Given the description of an element on the screen output the (x, y) to click on. 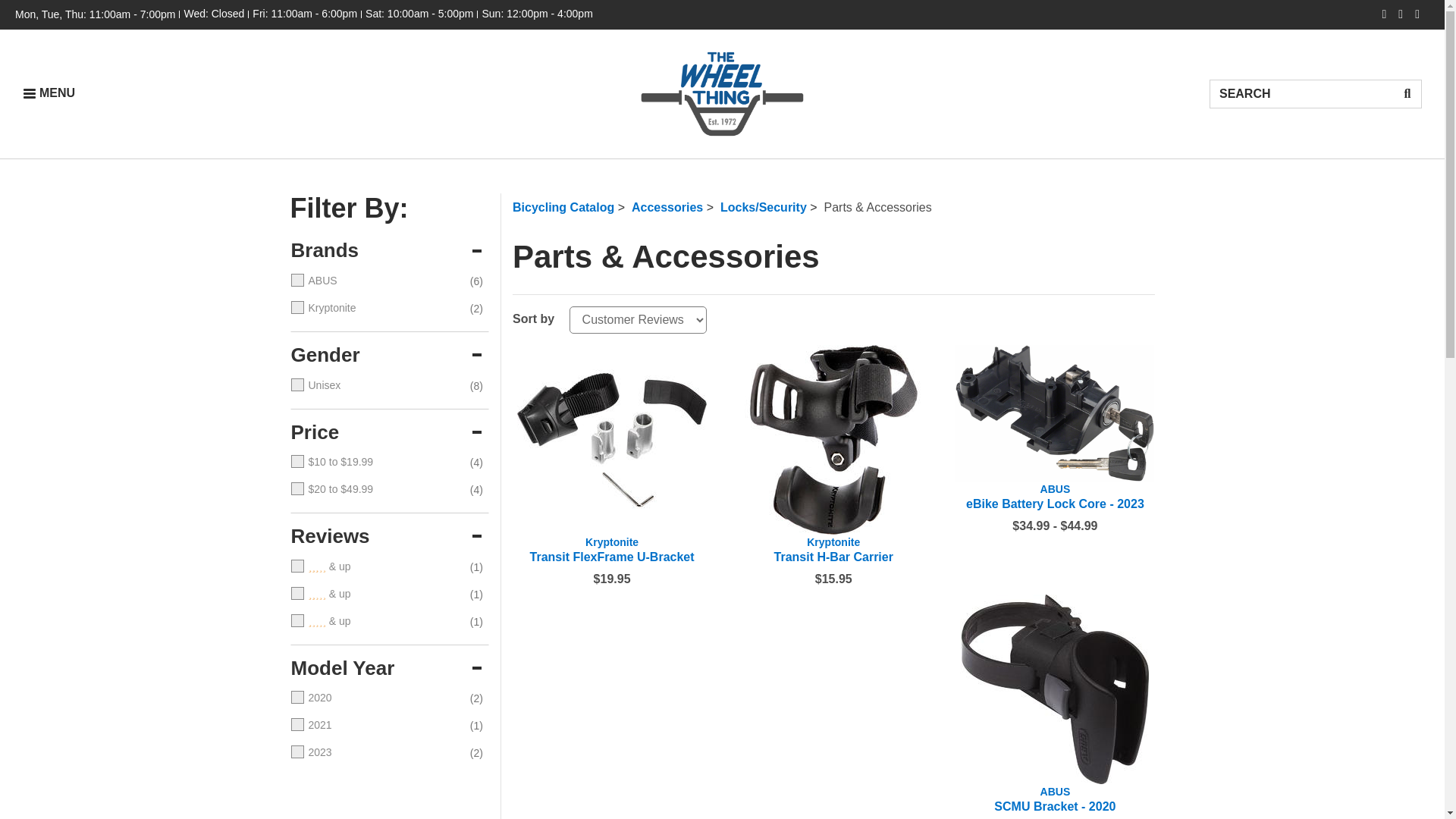
Kryptonite Transit H-Bar Carrier (833, 439)
Kryptonite Transit FlexFrame U-Bracket (611, 439)
Kryptonite Transit FlexFrame U-Bracket (611, 549)
Search (1301, 93)
2 (374, 594)
1 (374, 621)
ABUS eBike Battery Lock Core (1054, 496)
Kryptonite Transit H-Bar Carrier (833, 549)
Search (1407, 93)
The Wheel Thing Home Page (721, 94)
